Given the description of an element on the screen output the (x, y) to click on. 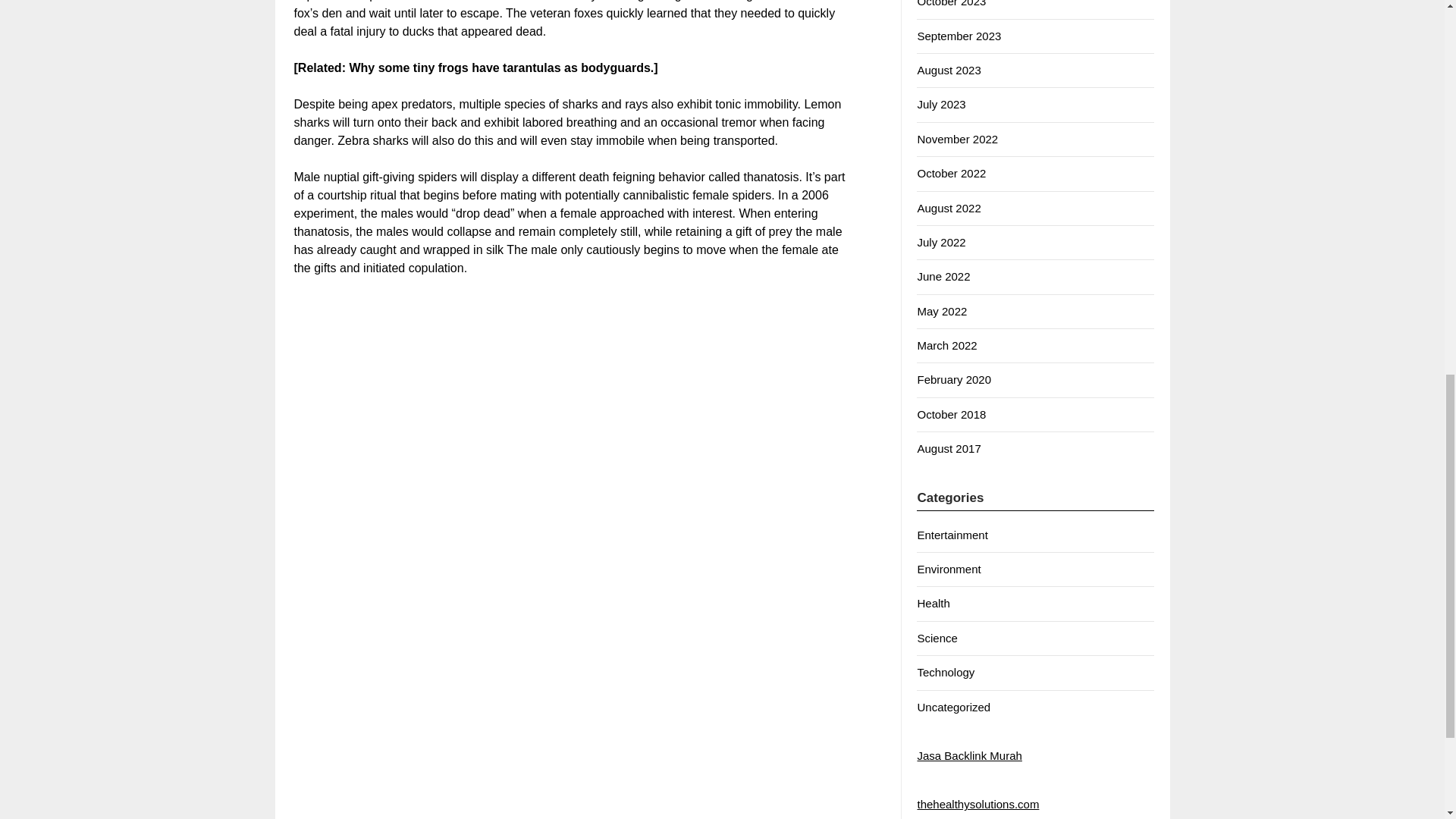
July 2023 (941, 103)
October 2022 (951, 173)
October 2023 (951, 3)
September 2023 (959, 35)
August 2022 (948, 207)
July 2022 (941, 241)
August 2023 (948, 69)
November 2022 (957, 138)
